Given the description of an element on the screen output the (x, y) to click on. 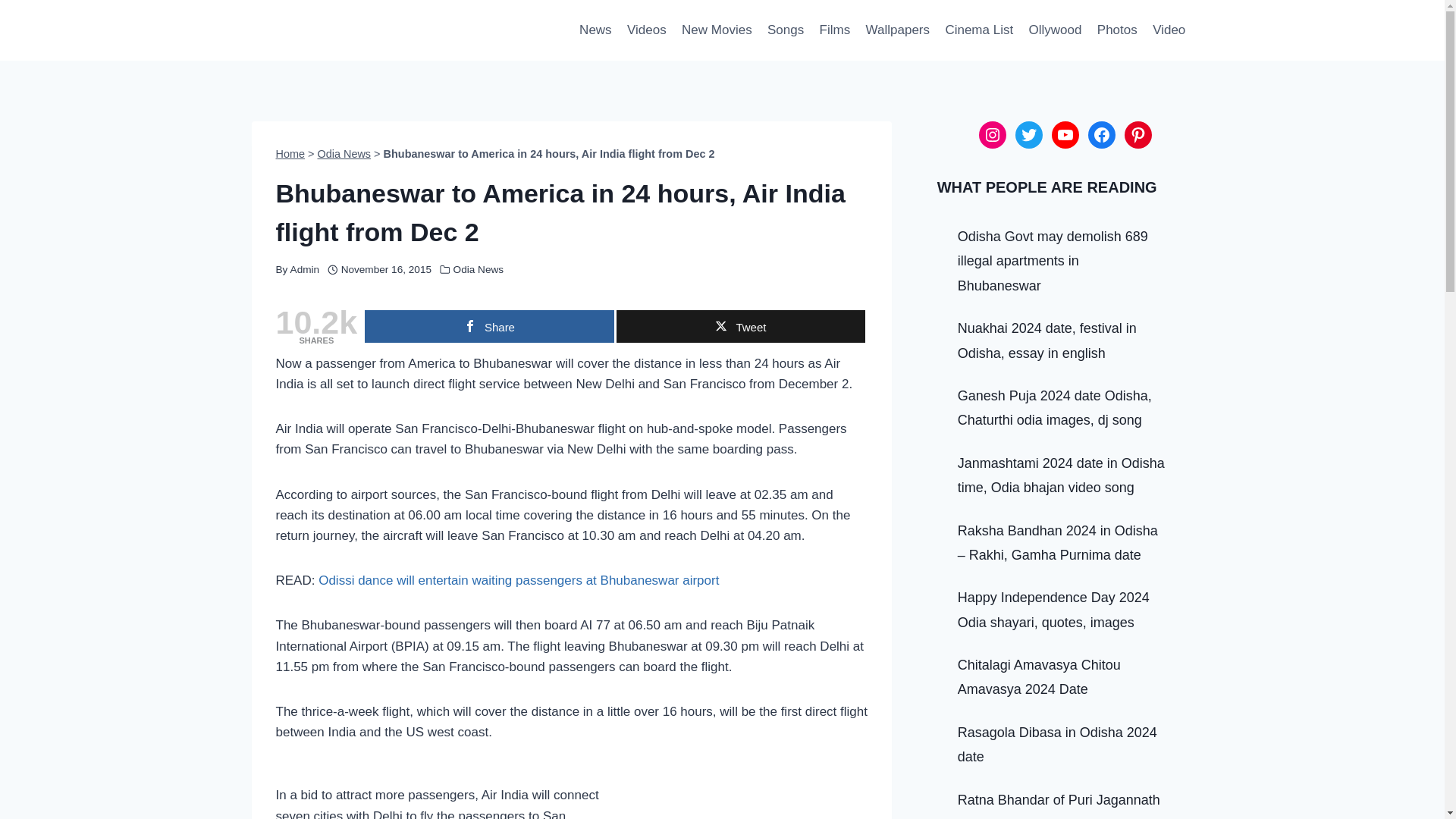
Odia News (477, 269)
News (596, 30)
Tweet (740, 326)
Cinema List (978, 30)
Photos (1116, 30)
Ollywood (1054, 30)
New Movies (717, 30)
Wallpapers (897, 30)
Video (1168, 30)
Videos (647, 30)
